Given the description of an element on the screen output the (x, y) to click on. 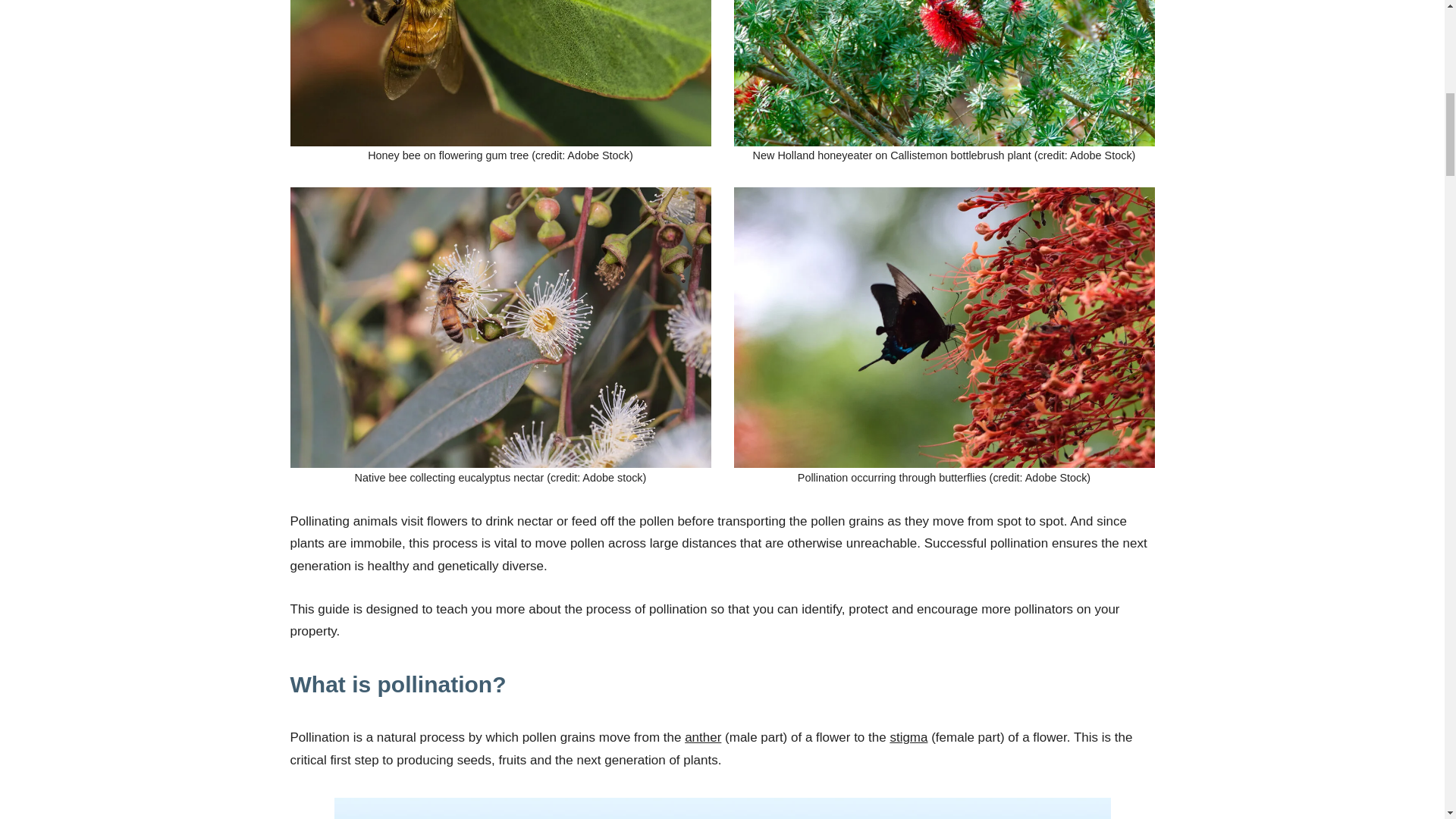
Diagram showing pollination cycle (721, 808)
Pollination occurring through butterflies (943, 327)
New Holland honeyeater on Callistemon bottlebrush plant (943, 73)
Honey bee on flowering gum tree. (499, 73)
